Given the description of an element on the screen output the (x, y) to click on. 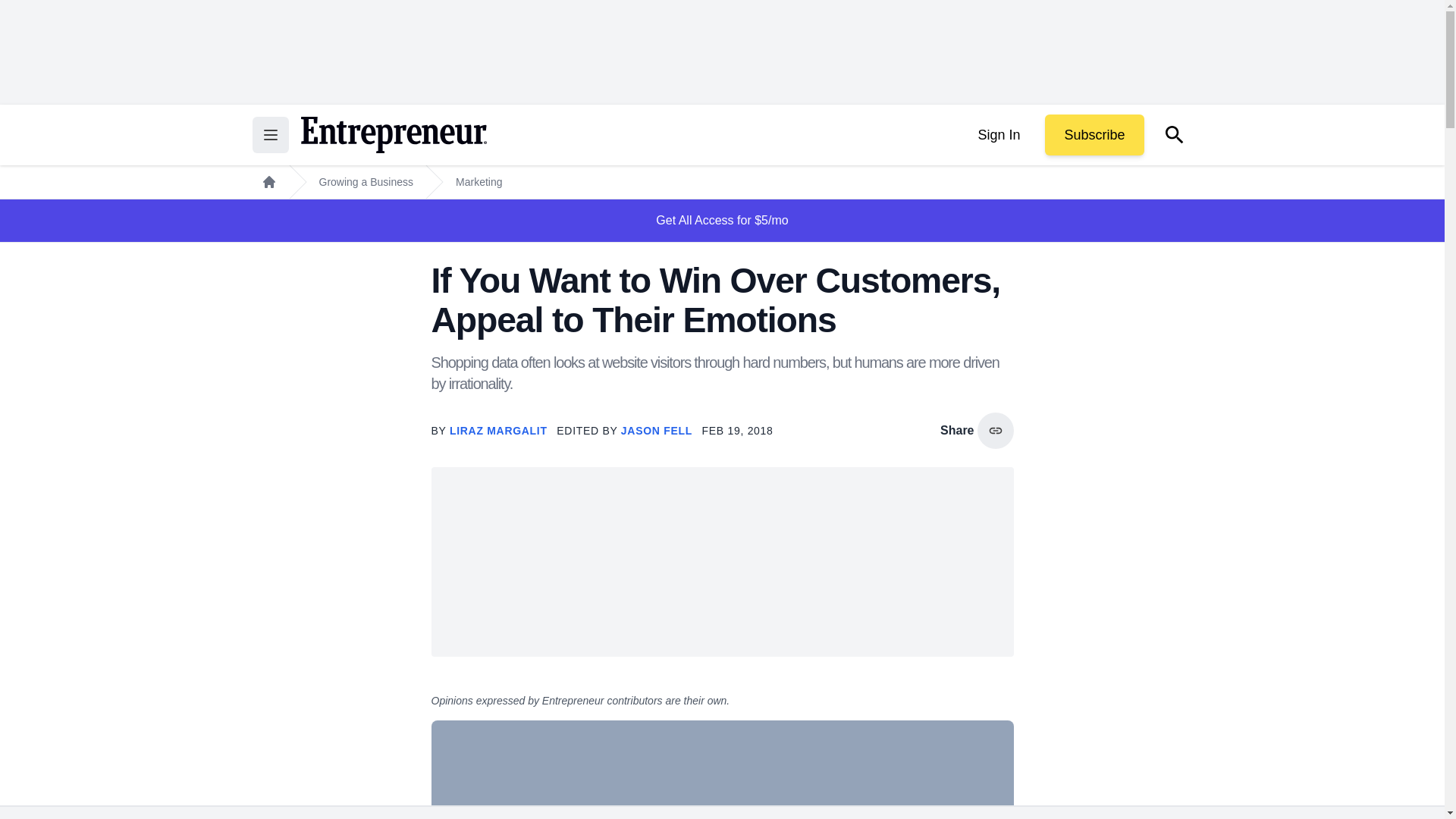
copy (994, 430)
Return to the home page (392, 135)
Subscribe (1093, 134)
Sign In (998, 134)
